Given the description of an element on the screen output the (x, y) to click on. 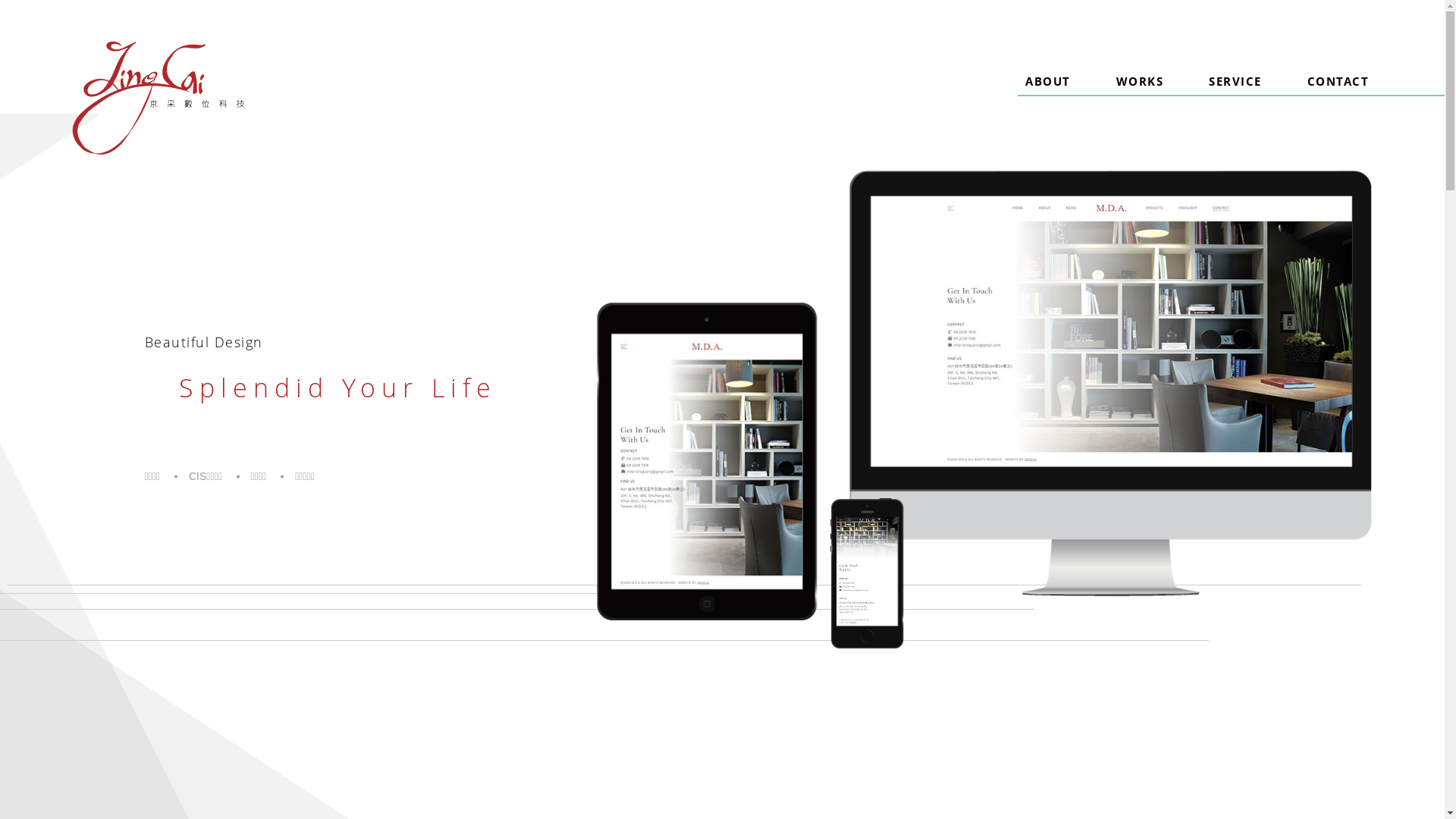
SERVICE Element type: text (1234, 94)
ABOUT Element type: text (1047, 94)
WORKS Element type: text (1140, 94)
CONTACT Element type: text (1338, 94)
